Given the description of an element on the screen output the (x, y) to click on. 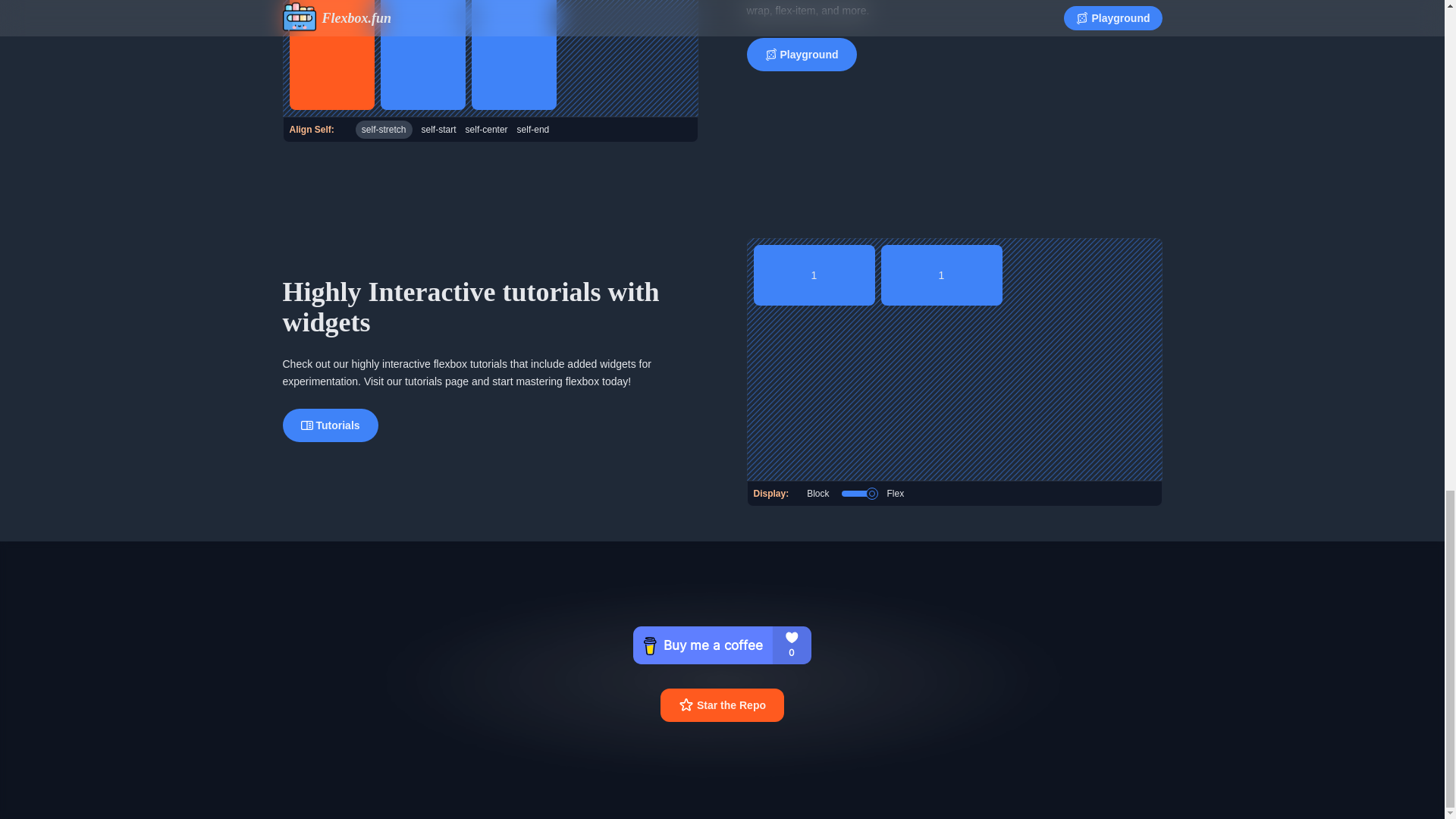
self-stretch (383, 129)
Playground (800, 54)
self-center (486, 129)
Tutorials (329, 425)
Enable notifications (858, 493)
Star the Repo (722, 704)
self-start (439, 129)
self-end (533, 129)
